Given the description of an element on the screen output the (x, y) to click on. 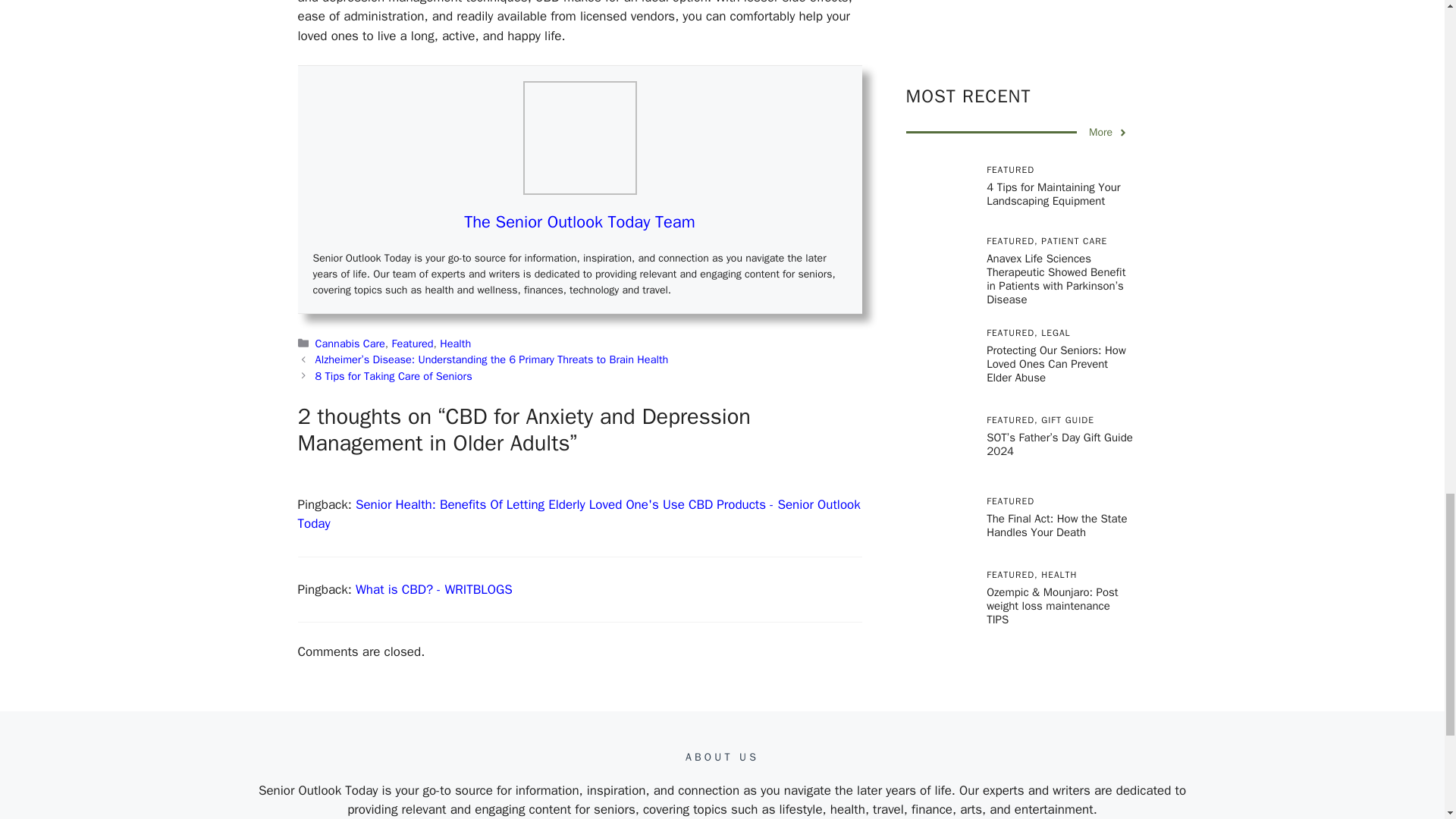
Featured (412, 343)
What is CBD? - WRITBLOGS (433, 589)
Health (454, 343)
8 Tips for Taking Care of Seniors (393, 376)
Cannabis Care (350, 343)
CBD for Anxiety and Depression Management in Older Adults 1 (579, 137)
The Senior Outlook Today Team (579, 221)
